Given the description of an element on the screen output the (x, y) to click on. 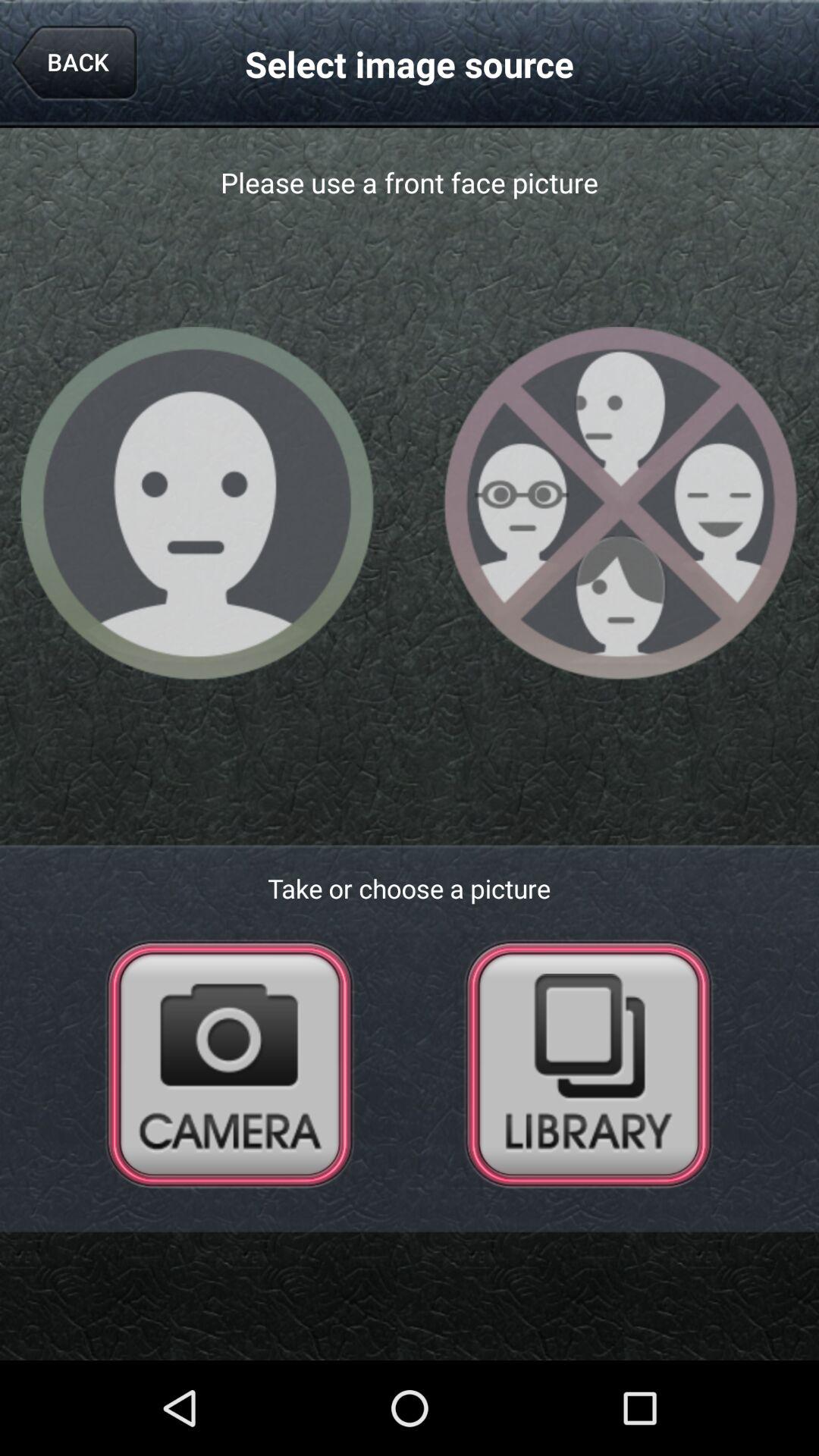
go to stored photos (588, 1063)
